Given the description of an element on the screen output the (x, y) to click on. 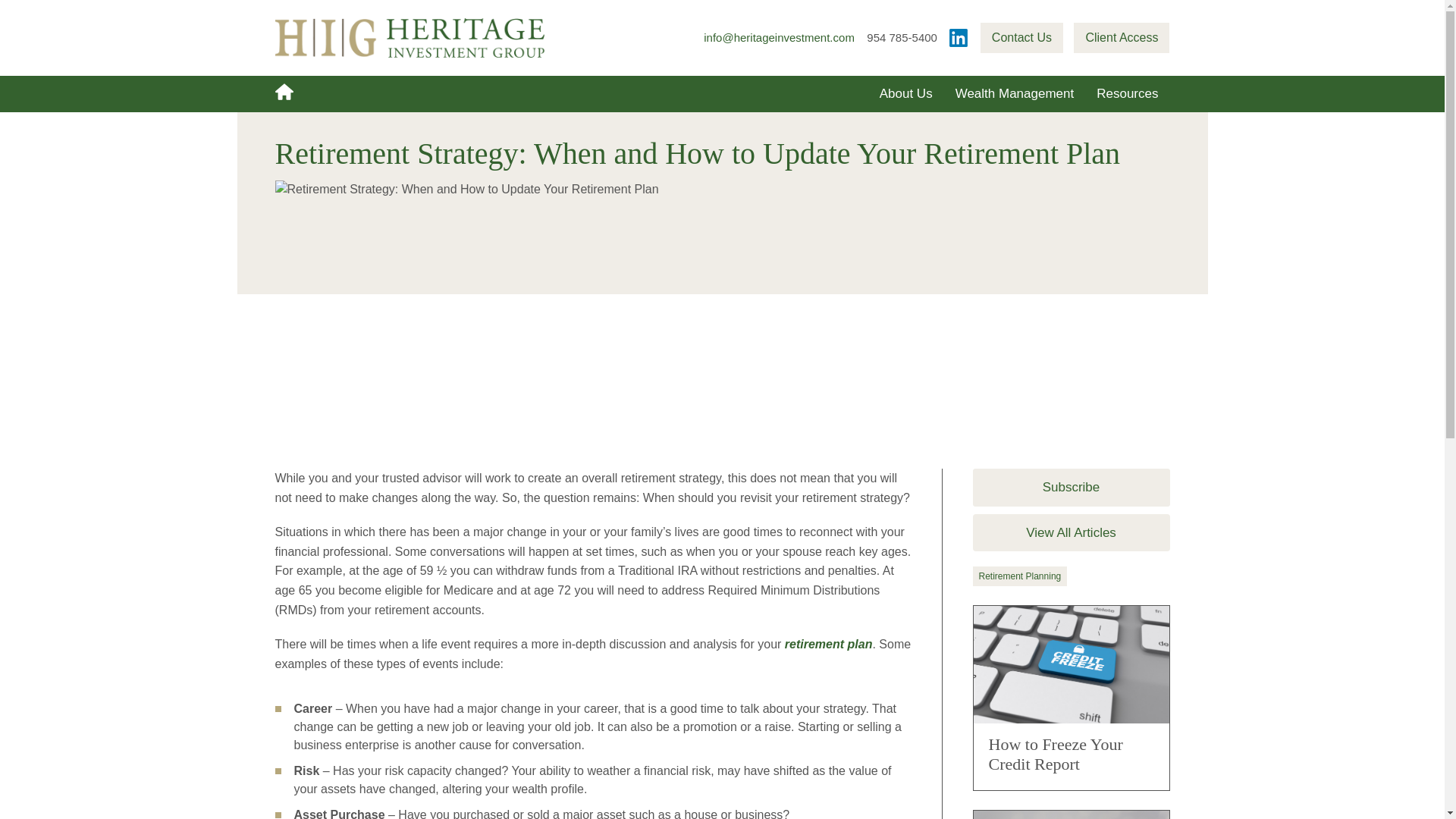
About Us (906, 94)
Client Access (1121, 37)
Wealth Management (1014, 94)
Contact Us (1020, 37)
